Given the description of an element on the screen output the (x, y) to click on. 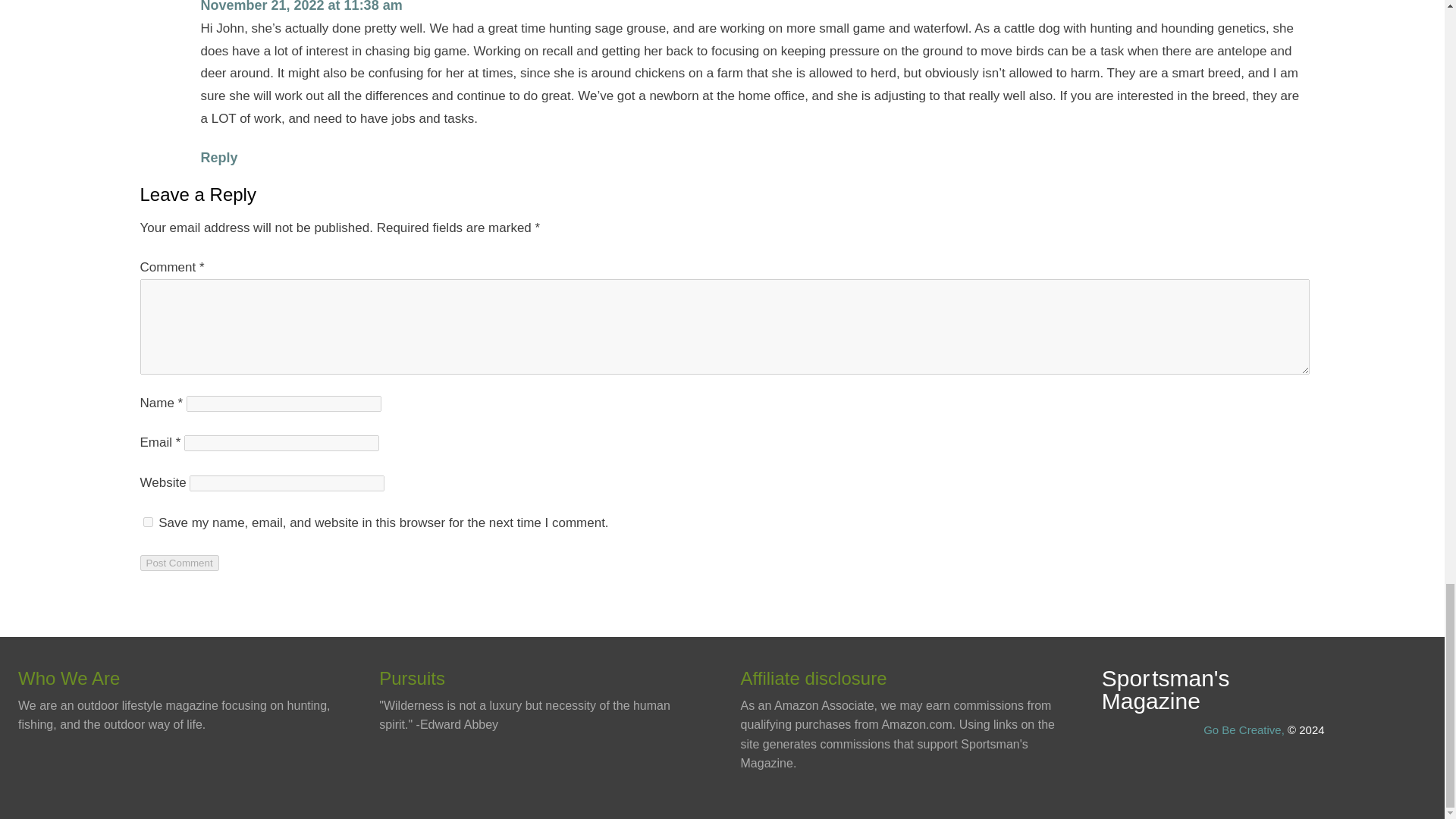
November 21, 2022 at 11:38 am (300, 6)
Post Comment (178, 562)
Post Comment (178, 562)
yes (147, 521)
Go Be Creative, (1244, 729)
Reply (218, 157)
